Given the description of an element on the screen output the (x, y) to click on. 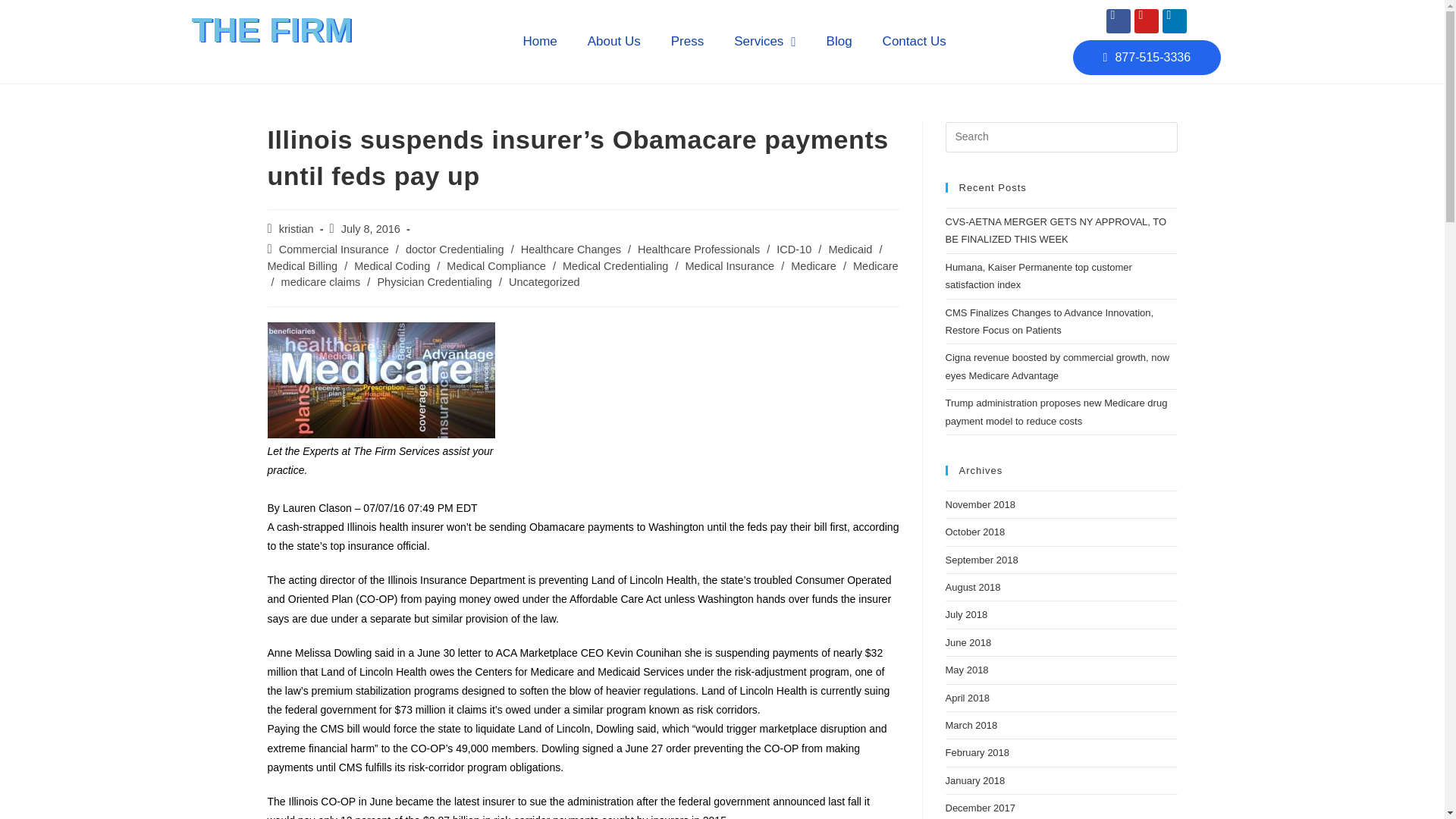
Physician Credentialing (434, 282)
877-515-3336 (1147, 56)
Posts by kristian (296, 228)
Home (539, 41)
Medicare (875, 265)
Uncategorized (543, 282)
medicare claims (321, 282)
Press (687, 41)
Healthcare Professionals (698, 249)
Blog (838, 41)
